Given the description of an element on the screen output the (x, y) to click on. 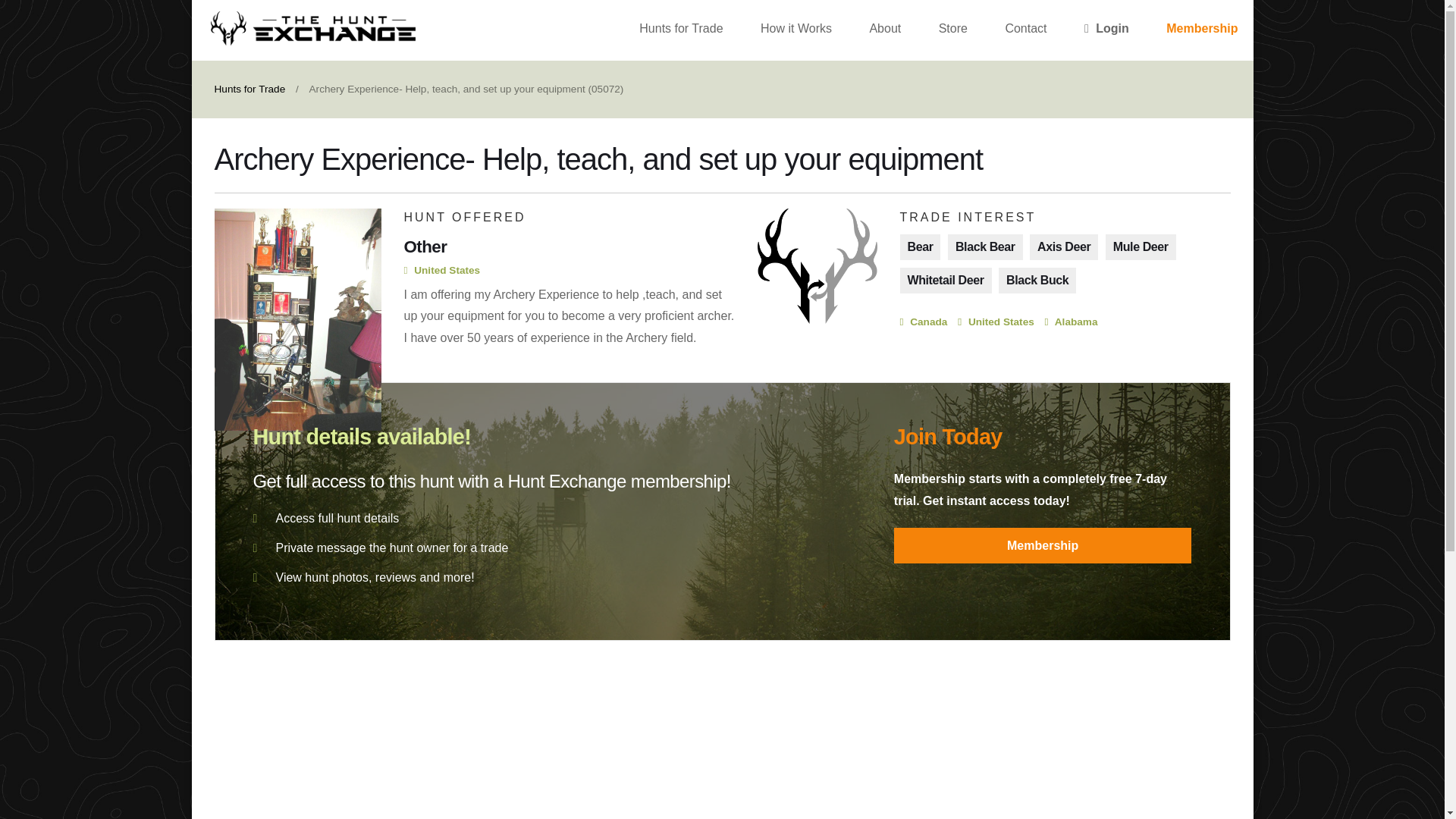
How it Works (796, 30)
Membership (1042, 545)
Hunts for Trade (681, 30)
Login (1106, 30)
Store (952, 30)
About (884, 30)
Hunts for Trade (249, 89)
Contact (1025, 30)
Membership (1201, 30)
